Given the description of an element on the screen output the (x, y) to click on. 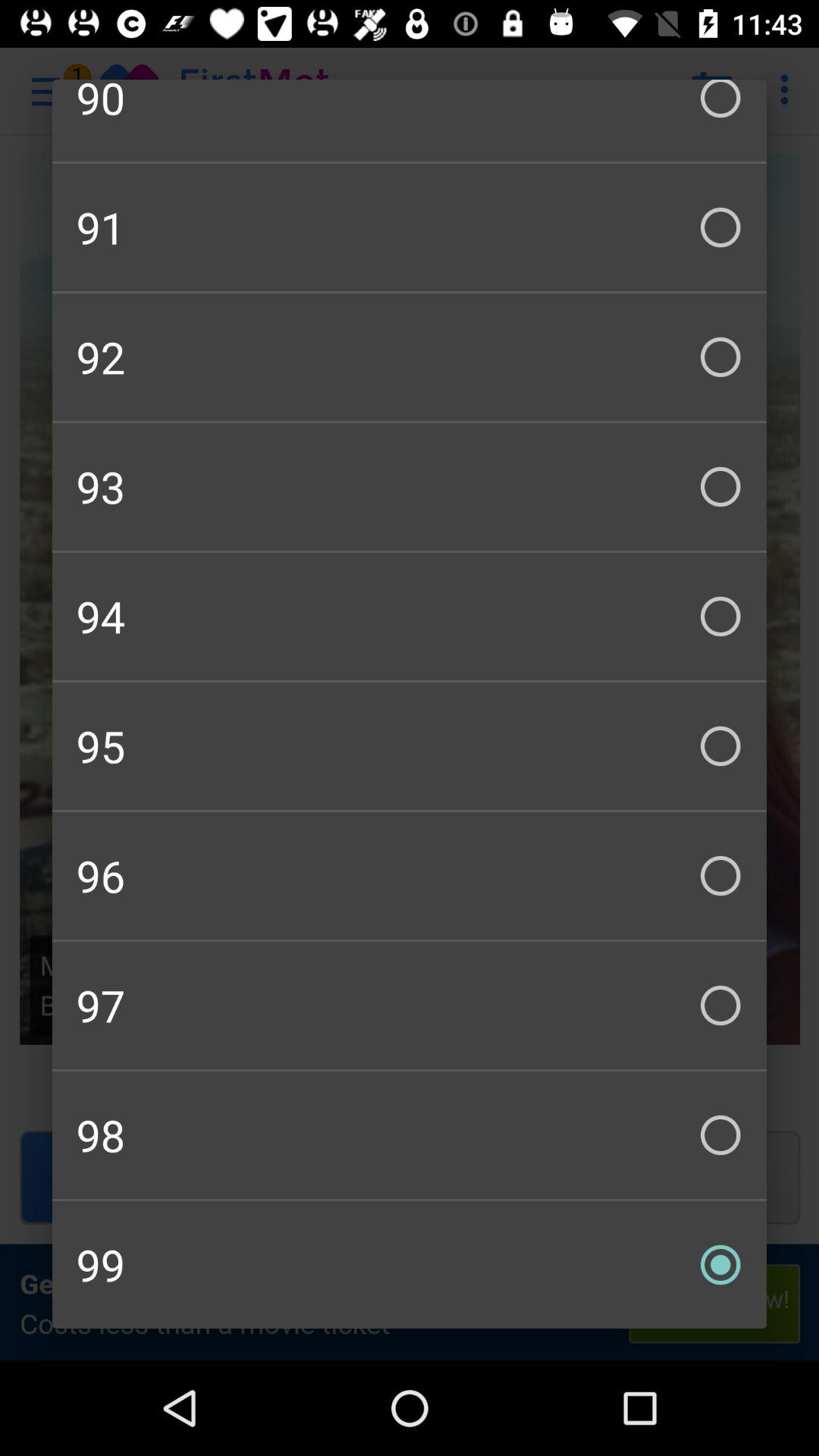
flip to 92 item (409, 356)
